Given the description of an element on the screen output the (x, y) to click on. 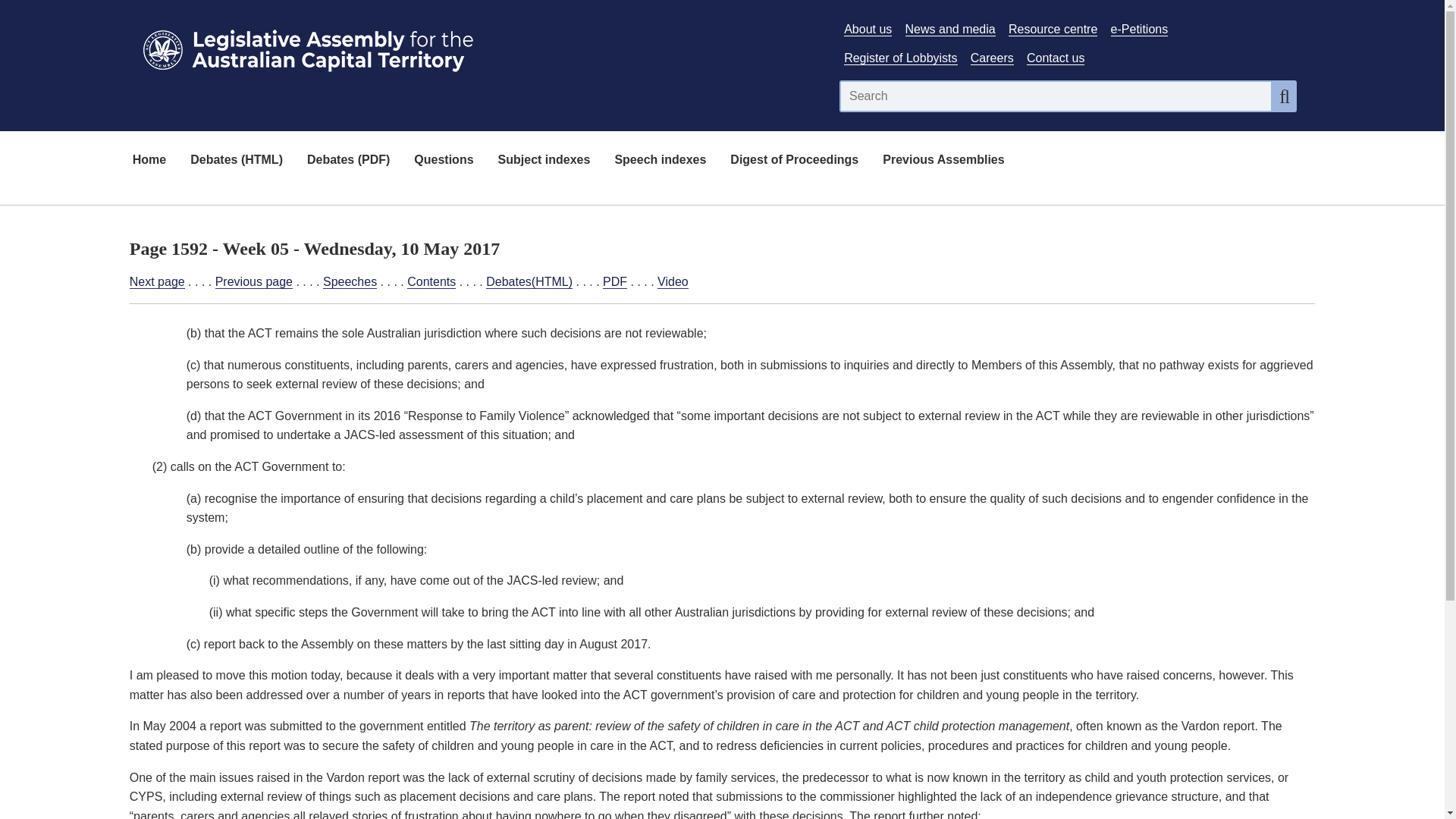
News and media (950, 29)
Careers (992, 58)
Link to About Us (867, 29)
PDF (614, 282)
Link to Homepage (475, 46)
Home (148, 160)
e-Petitions (1139, 29)
Previous Assemblies (943, 160)
Previous page (253, 282)
Resource centre (1053, 29)
